Given the description of an element on the screen output the (x, y) to click on. 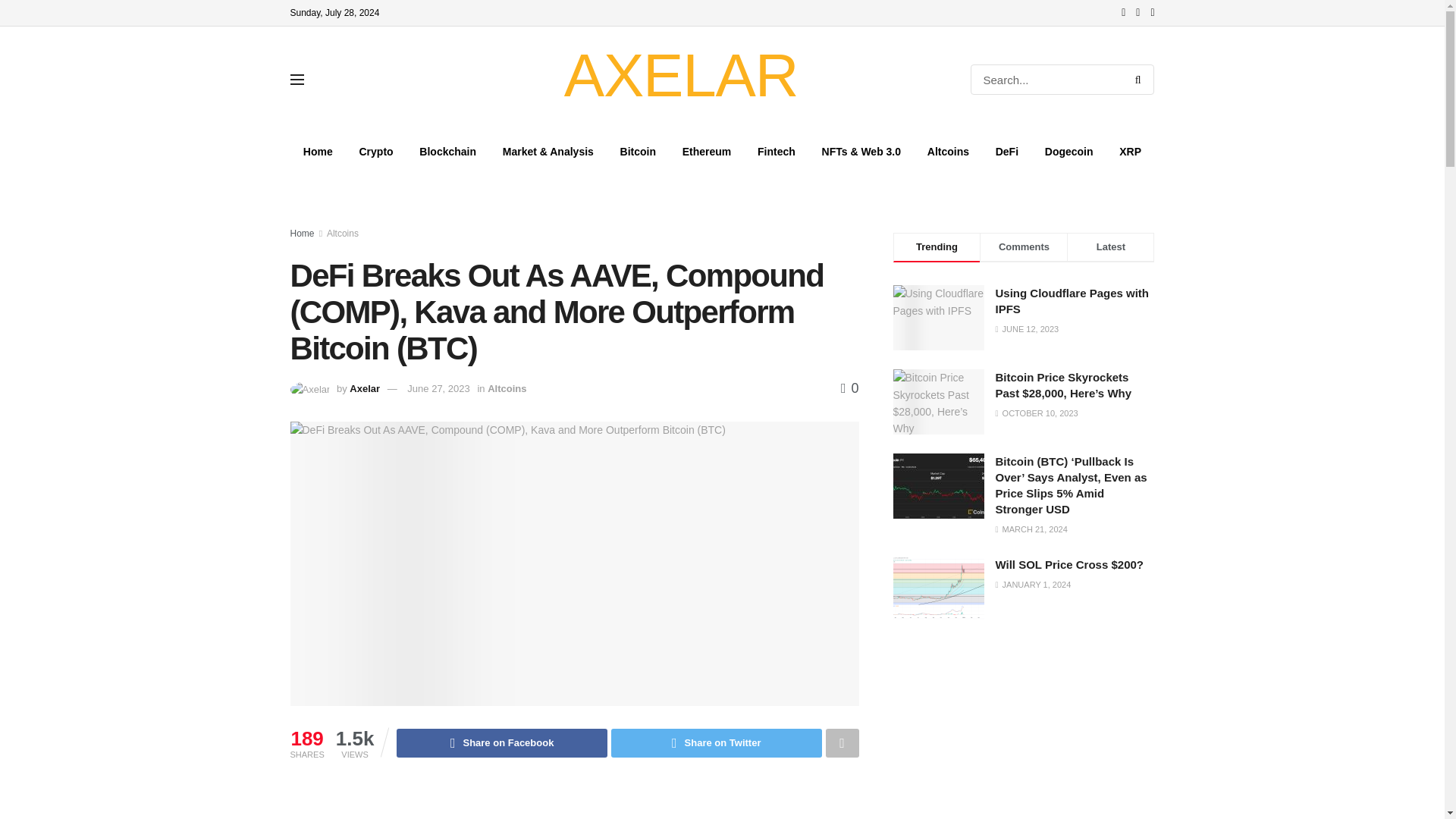
June 27, 2023 (437, 388)
Axelar (364, 388)
Altcoins (342, 233)
Crypto (376, 151)
Blockchain (447, 151)
Share on Twitter (716, 742)
Altcoins (947, 151)
Ethereum (706, 151)
DeFi (1005, 151)
Dogecoin (1068, 151)
Home (317, 151)
Altcoins (506, 388)
Share on Facebook (501, 742)
0 (850, 387)
Home (301, 233)
